Given the description of an element on the screen output the (x, y) to click on. 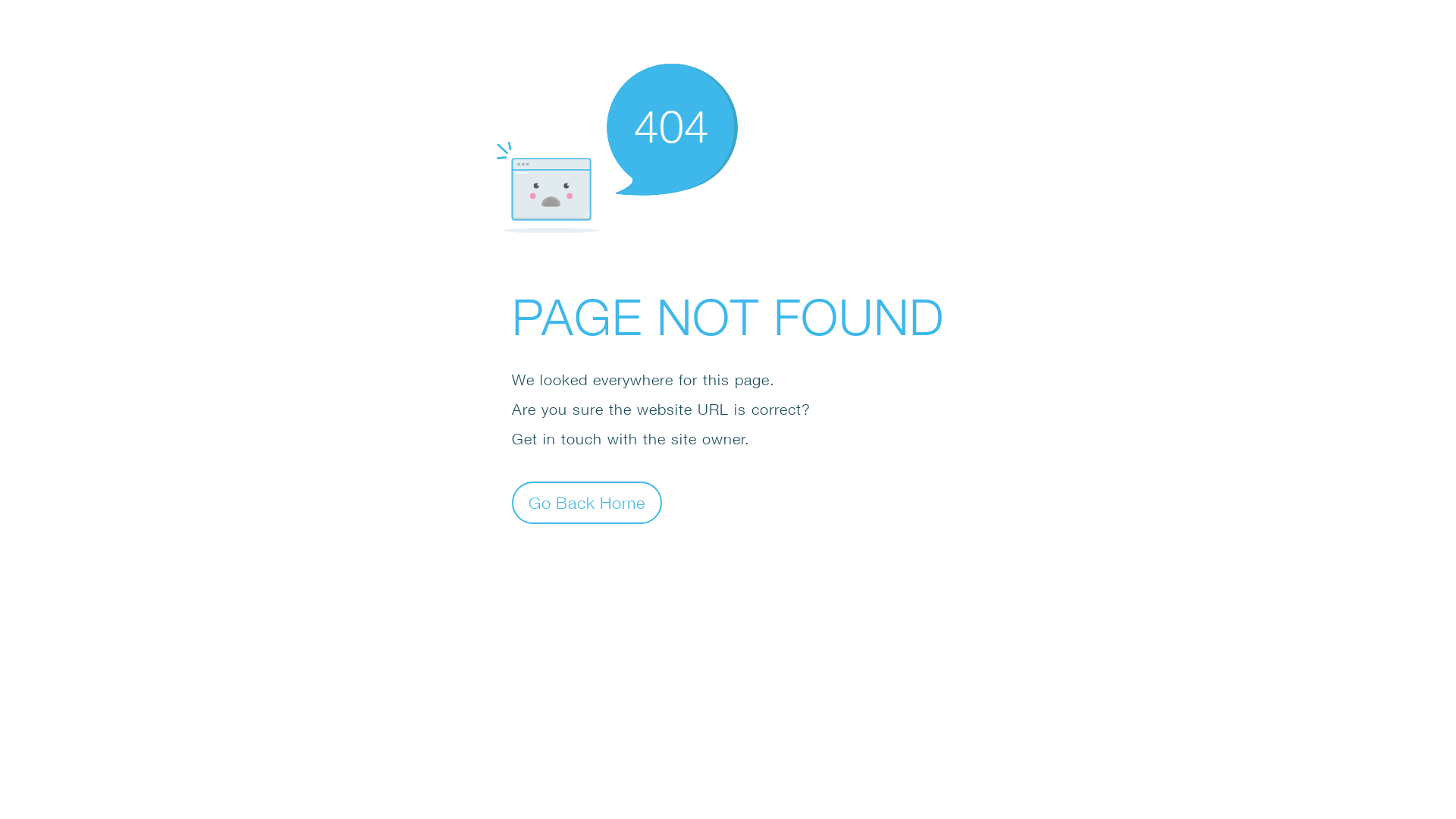
Go Back Home Element type: text (586, 502)
